Given the description of an element on the screen output the (x, y) to click on. 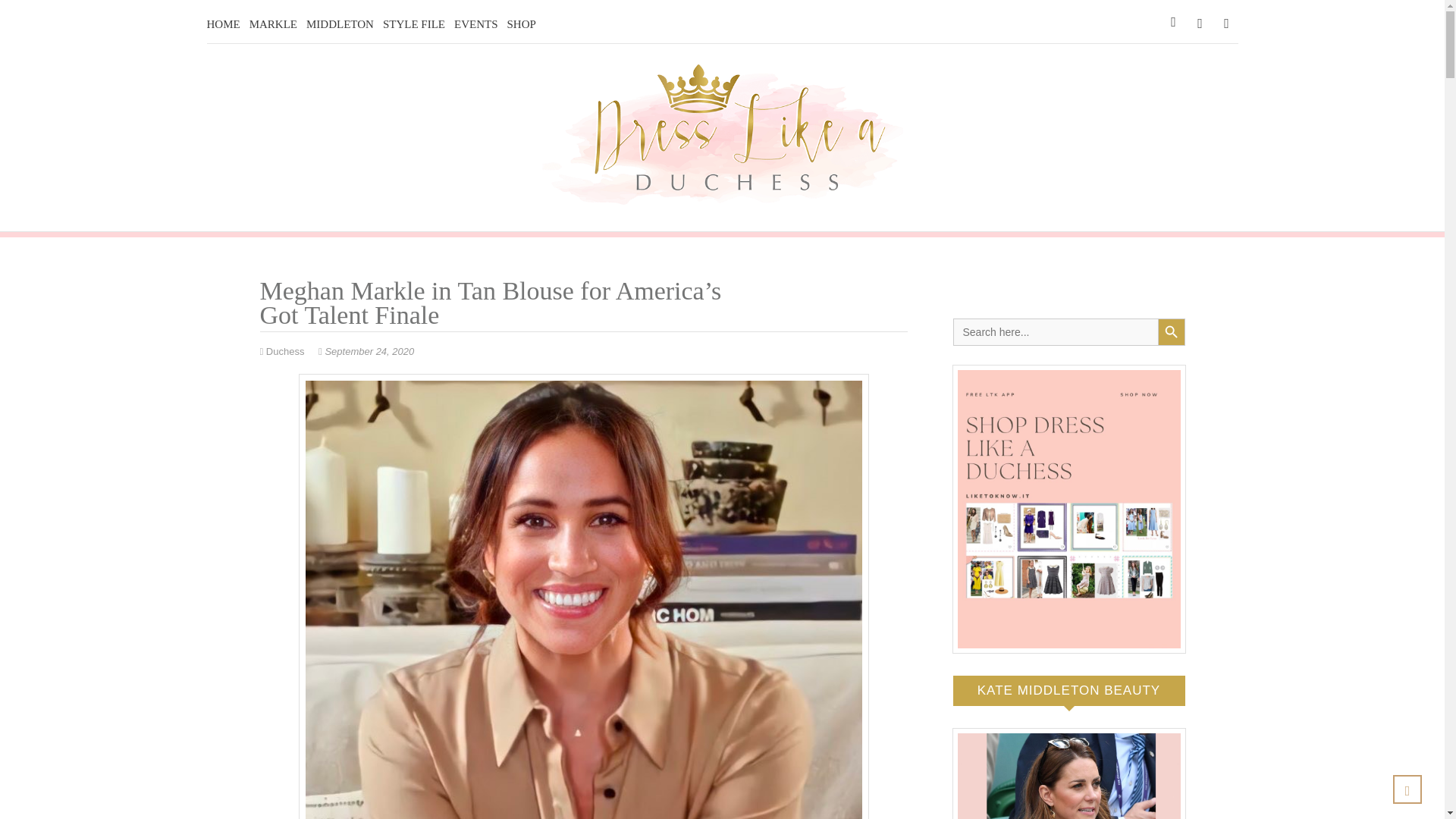
7:55 pm (365, 351)
Dress Like A Duchess (688, 222)
MIDDLETON (339, 24)
Duchess (283, 351)
September 24, 2020 (365, 351)
Duchess (283, 351)
Go to Top (1407, 788)
HOME (223, 24)
Search Button (1171, 331)
MARKLE (272, 24)
SHOP (520, 24)
EVENTS (475, 24)
Dress Like A Duchess (688, 222)
STYLE FILE (413, 24)
